Given the description of an element on the screen output the (x, y) to click on. 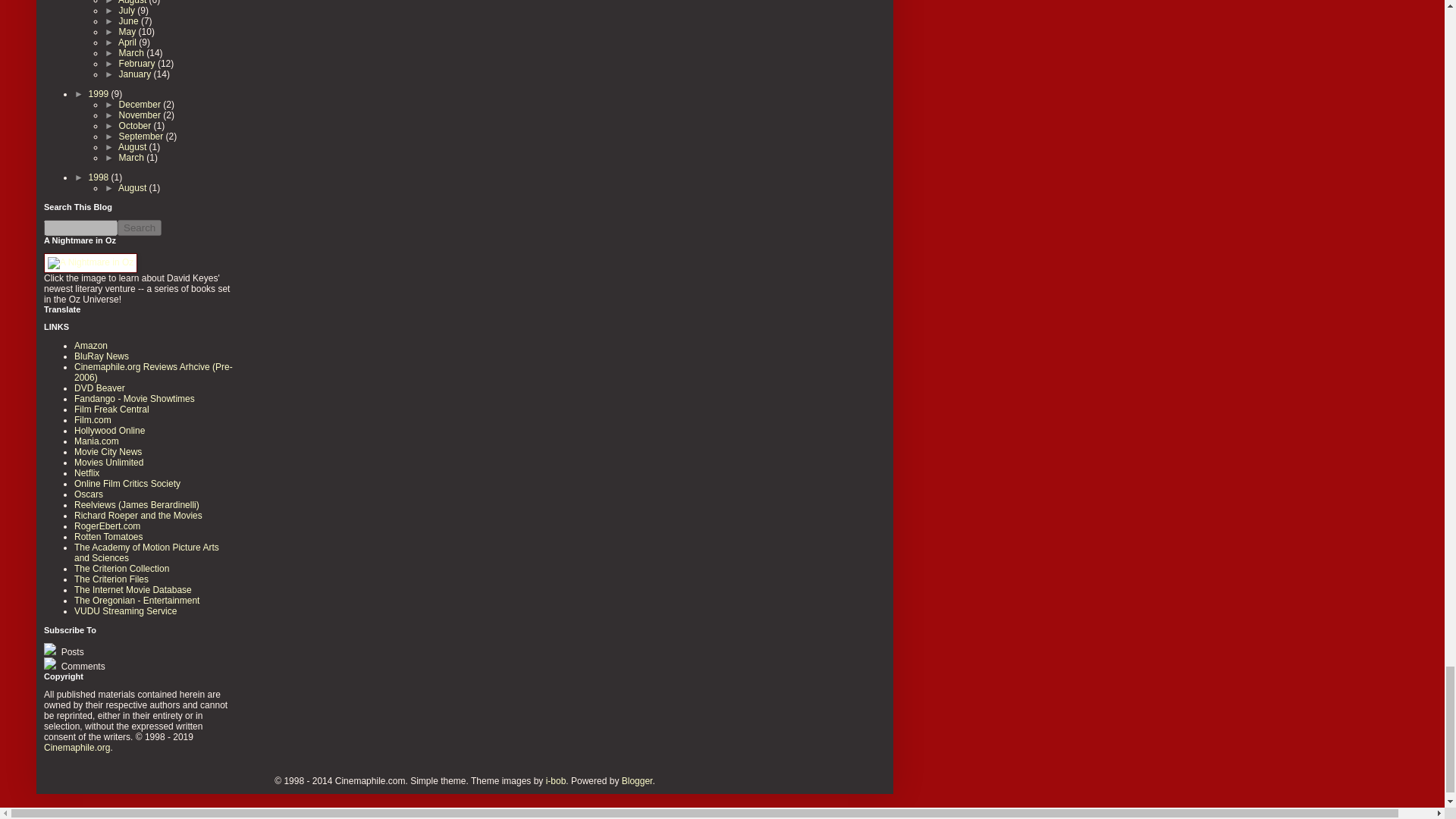
search (80, 227)
Search (139, 227)
Search (139, 227)
search (139, 227)
